Given the description of an element on the screen output the (x, y) to click on. 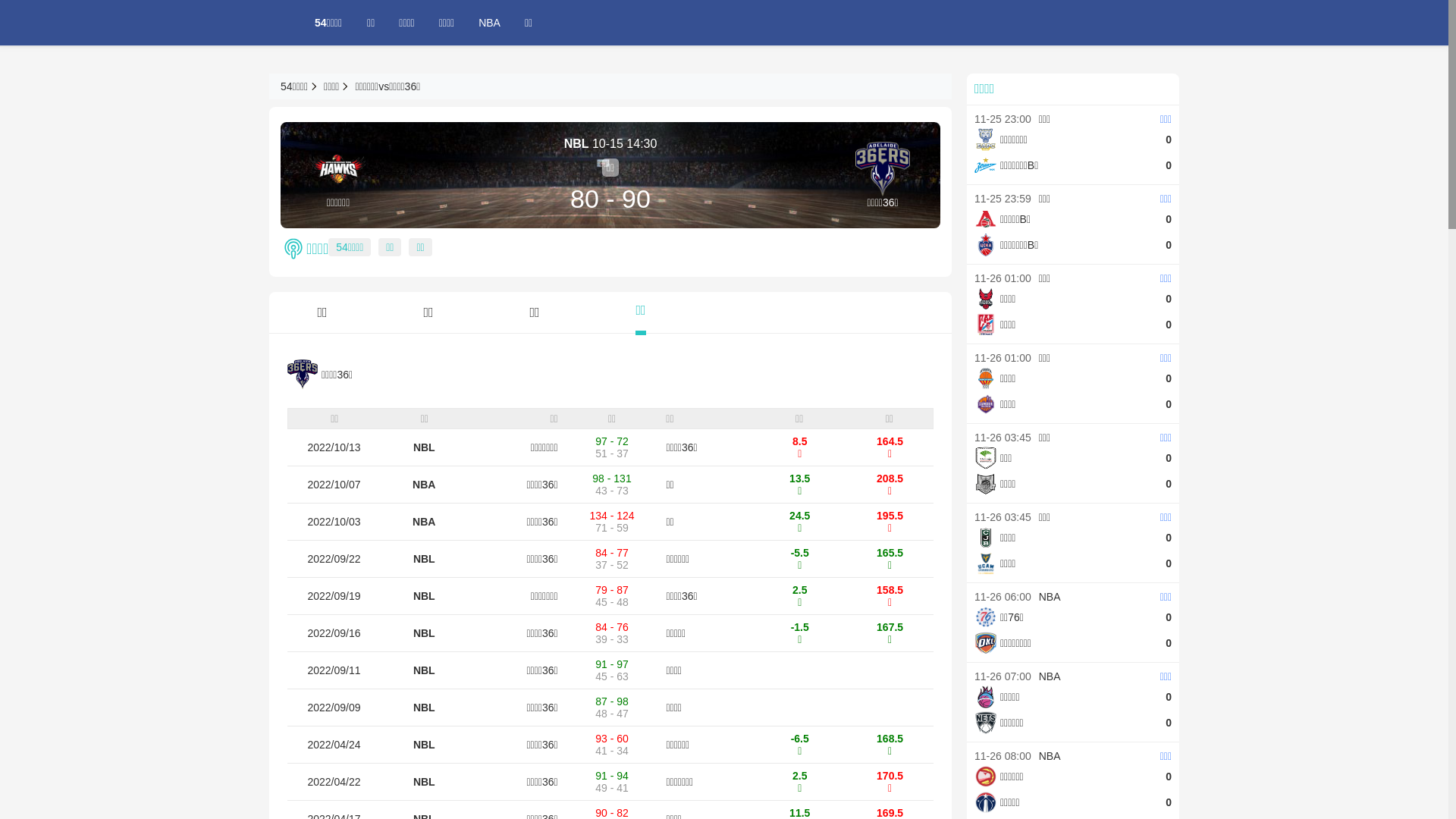
NBL Element type: text (424, 707)
NBL Element type: text (424, 595)
NBA Element type: text (423, 521)
NBA Element type: text (423, 484)
NBL Element type: text (424, 633)
NBA Element type: text (489, 22)
NBL Element type: text (424, 447)
NBL Element type: text (424, 558)
NBL Element type: text (424, 670)
NBL Element type: text (424, 781)
NBL Element type: text (424, 744)
